Given the description of an element on the screen output the (x, y) to click on. 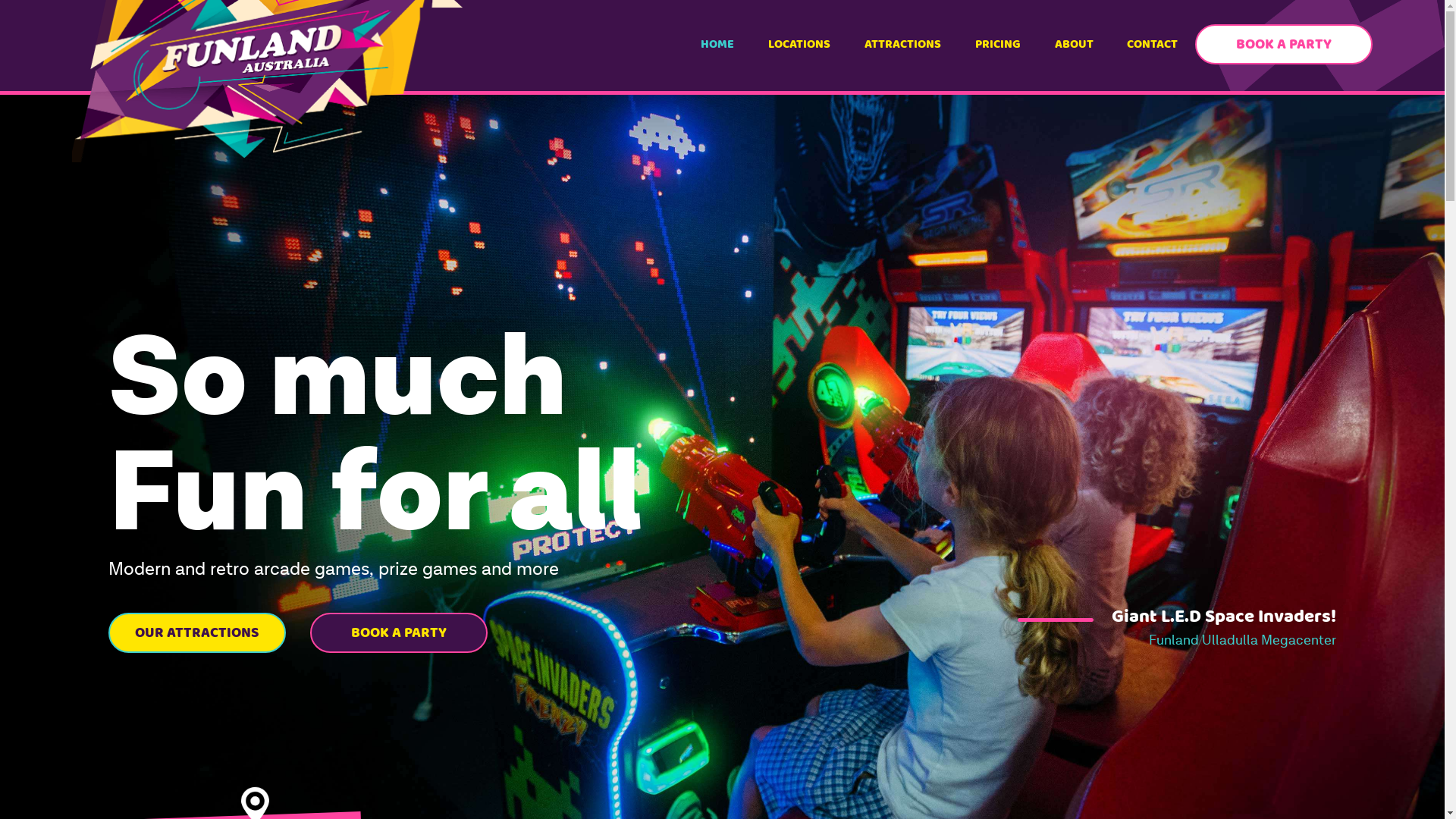
BOOK A PARTY Element type: text (1283, 44)
CONTACT Element type: text (1152, 44)
Funland Australia Home Element type: hover (266, 81)
PRICING Element type: text (997, 44)
HOME Element type: text (717, 44)
BOOK A PARTY Element type: text (398, 632)
ATTRACTIONS Element type: text (902, 44)
LOCATIONS Element type: text (799, 44)
ABOUT Element type: text (1073, 44)
OUR ATTRACTIONS Element type: text (196, 632)
